Given the description of an element on the screen output the (x, y) to click on. 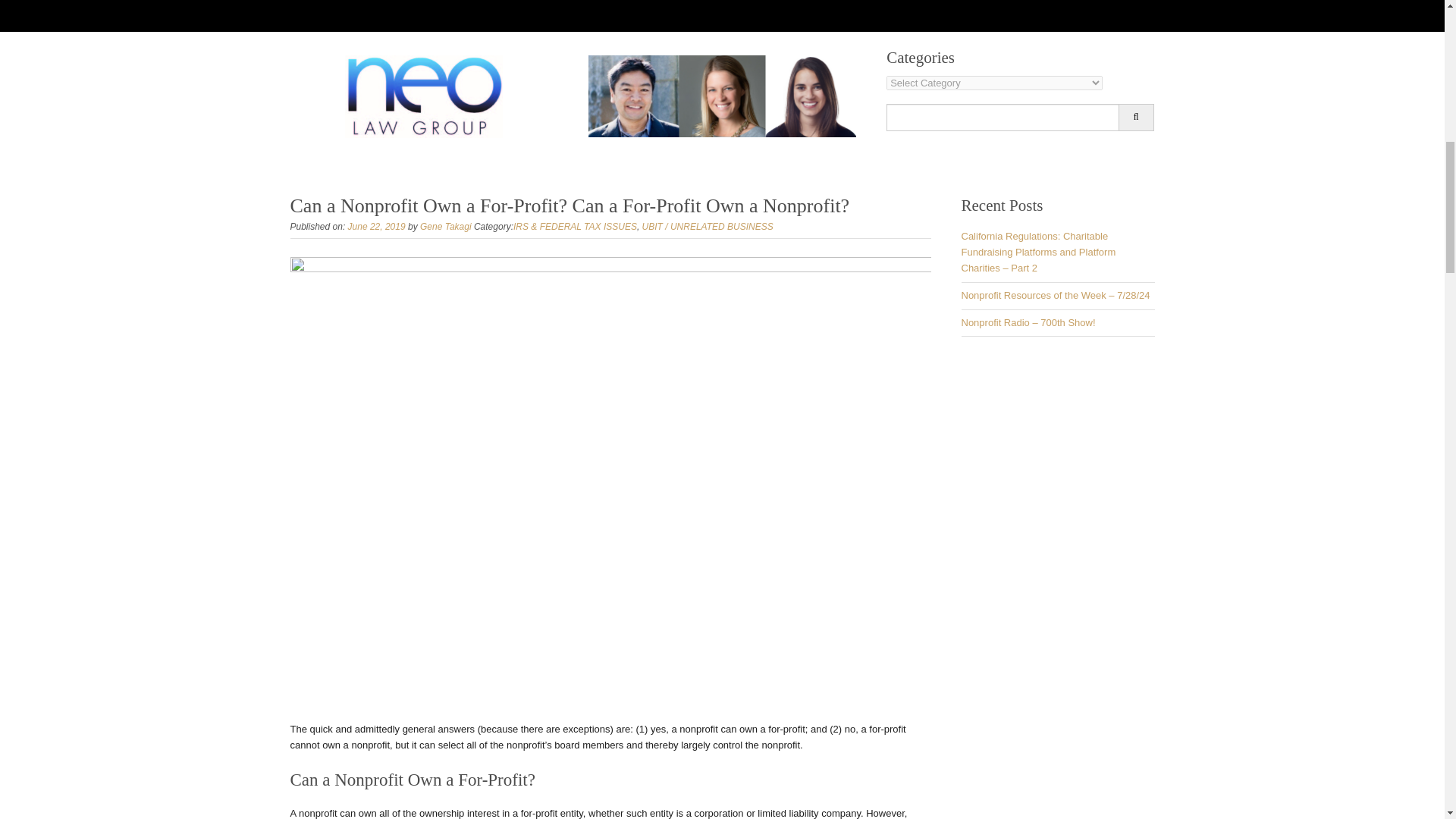
Search (1136, 117)
June 22, 2019 (376, 226)
Gene Takagi (445, 226)
